Given the description of an element on the screen output the (x, y) to click on. 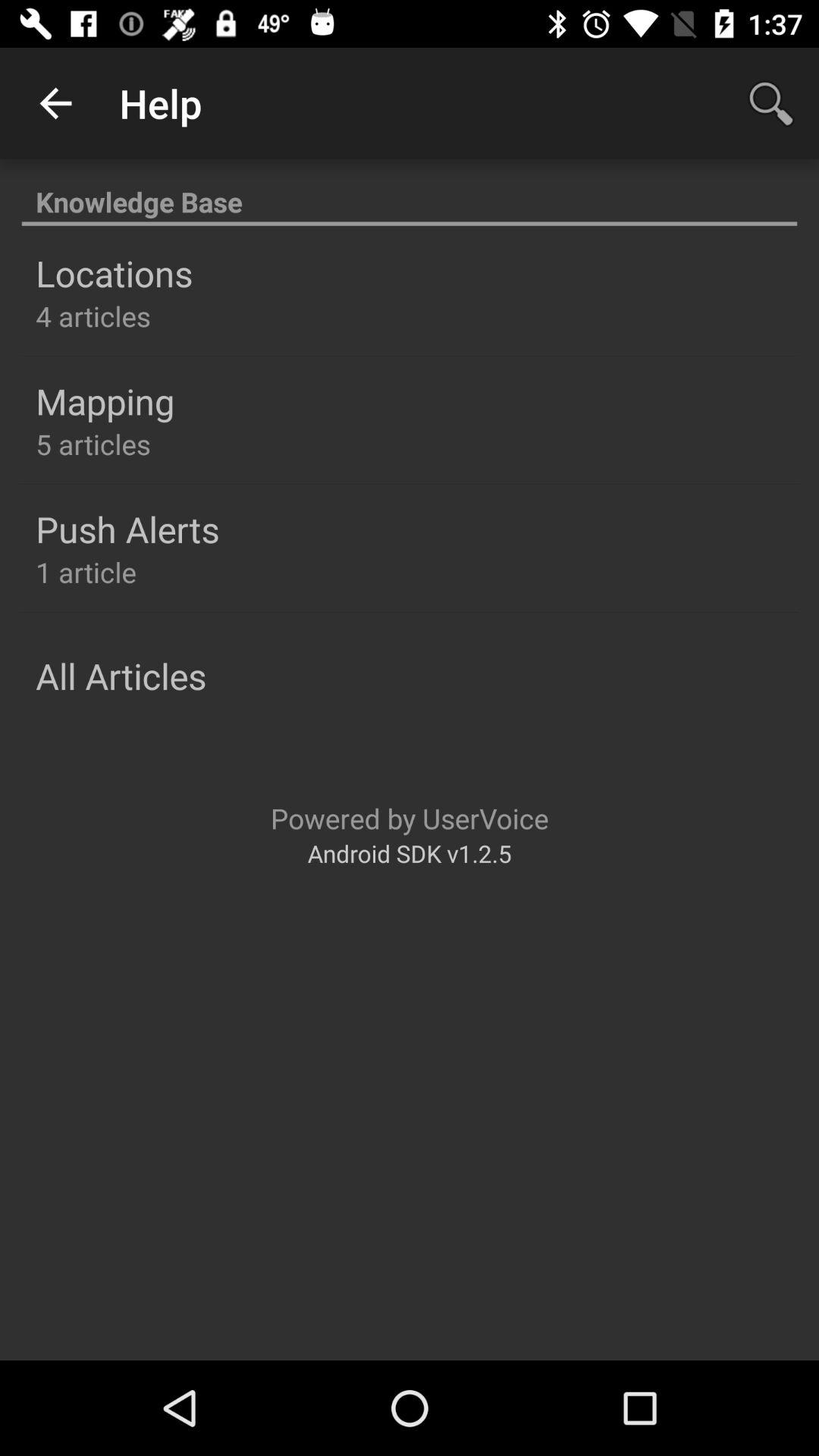
click the all articles icon (120, 675)
